Given the description of an element on the screen output the (x, y) to click on. 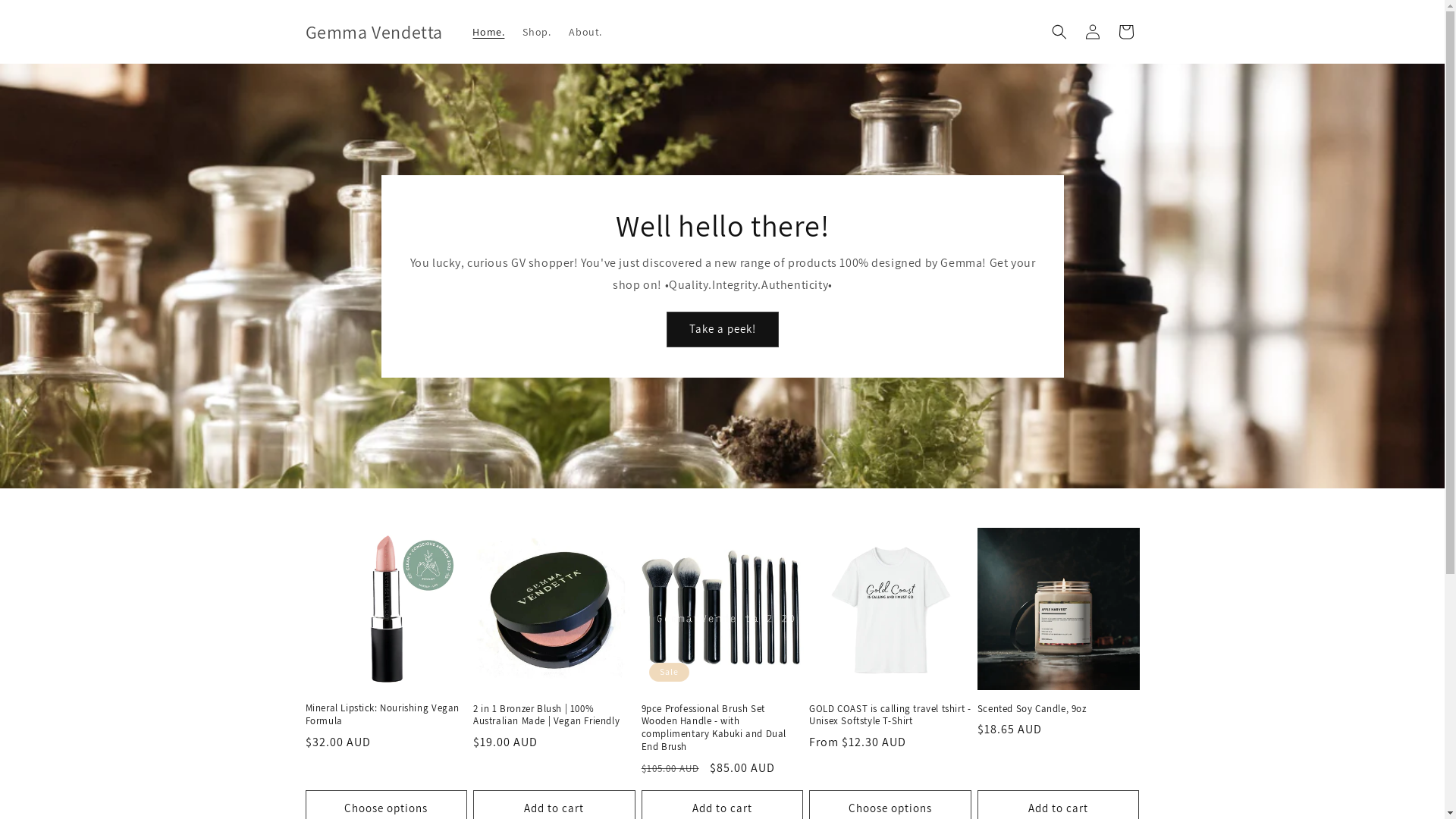
Home. Element type: text (488, 31)
2 in 1 Bronzer Blush | 100% Australian Made | Vegan Friendly Element type: text (554, 715)
Take a peek! Element type: text (721, 328)
Mineral Lipstick: Nourishing Vegan Formula Element type: text (385, 715)
Shop. Element type: text (536, 31)
Cart Element type: text (1125, 31)
About. Element type: text (585, 31)
Log in Element type: text (1091, 31)
Scented Soy Candle, 9oz Element type: text (1058, 708)
Gemma Vendetta Element type: text (373, 31)
